Given the description of an element on the screen output the (x, y) to click on. 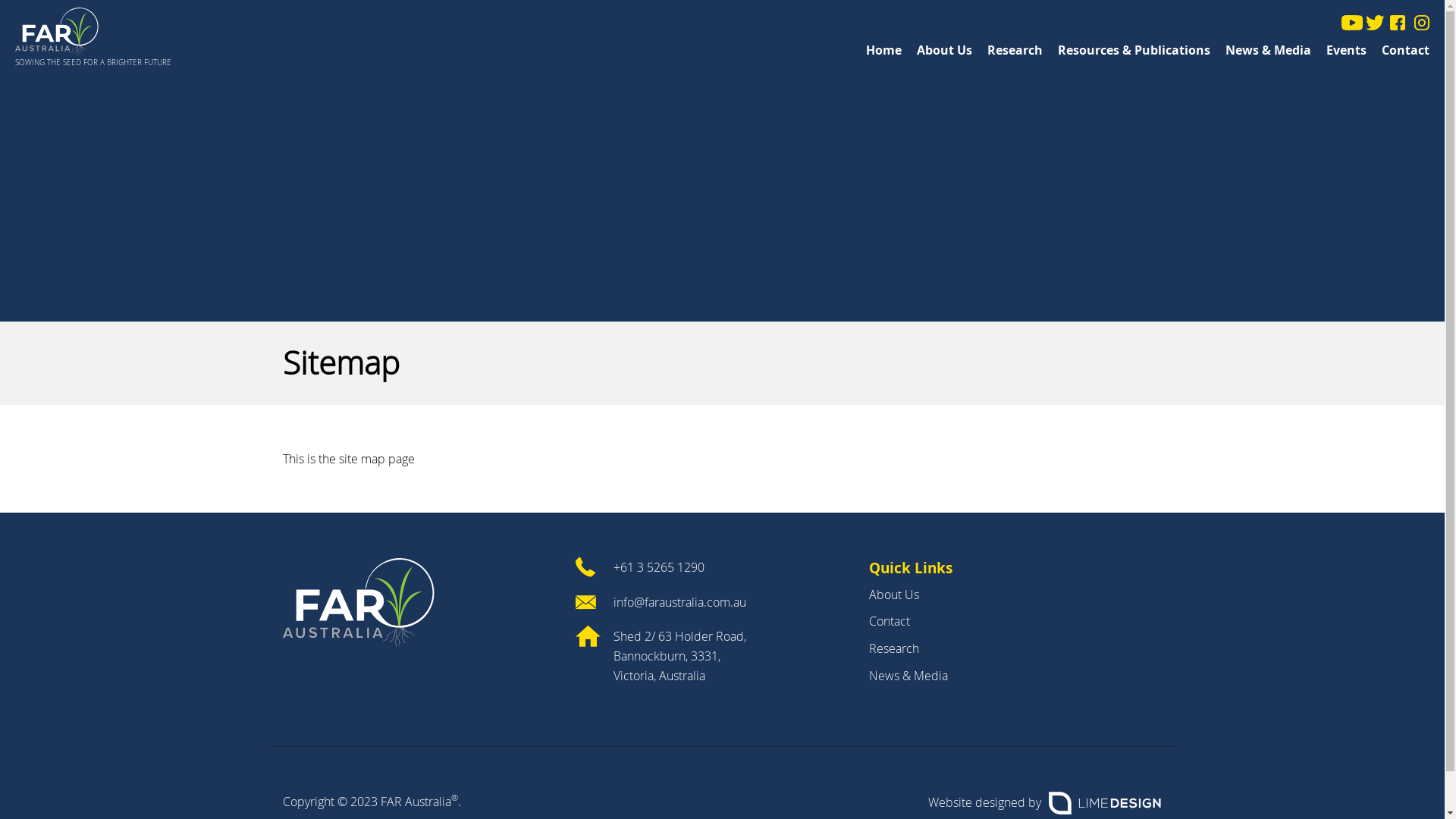
Contact Element type: text (1405, 49)
Contact Element type: text (889, 620)
News & Media Element type: text (1268, 49)
Research Element type: text (894, 648)
Research Element type: text (1014, 49)
Search Element type: text (854, 409)
Events Element type: text (1346, 49)
Website designed by Element type: text (1045, 802)
info@faraustralia.com.au Element type: text (706, 602)
Home Element type: text (883, 49)
Resources & Publications Element type: text (1133, 49)
+61 3 5265 1290 Element type: text (706, 567)
About Us Element type: text (944, 49)
About Us Element type: text (894, 594)
News & Media Element type: text (908, 675)
